Given the description of an element on the screen output the (x, y) to click on. 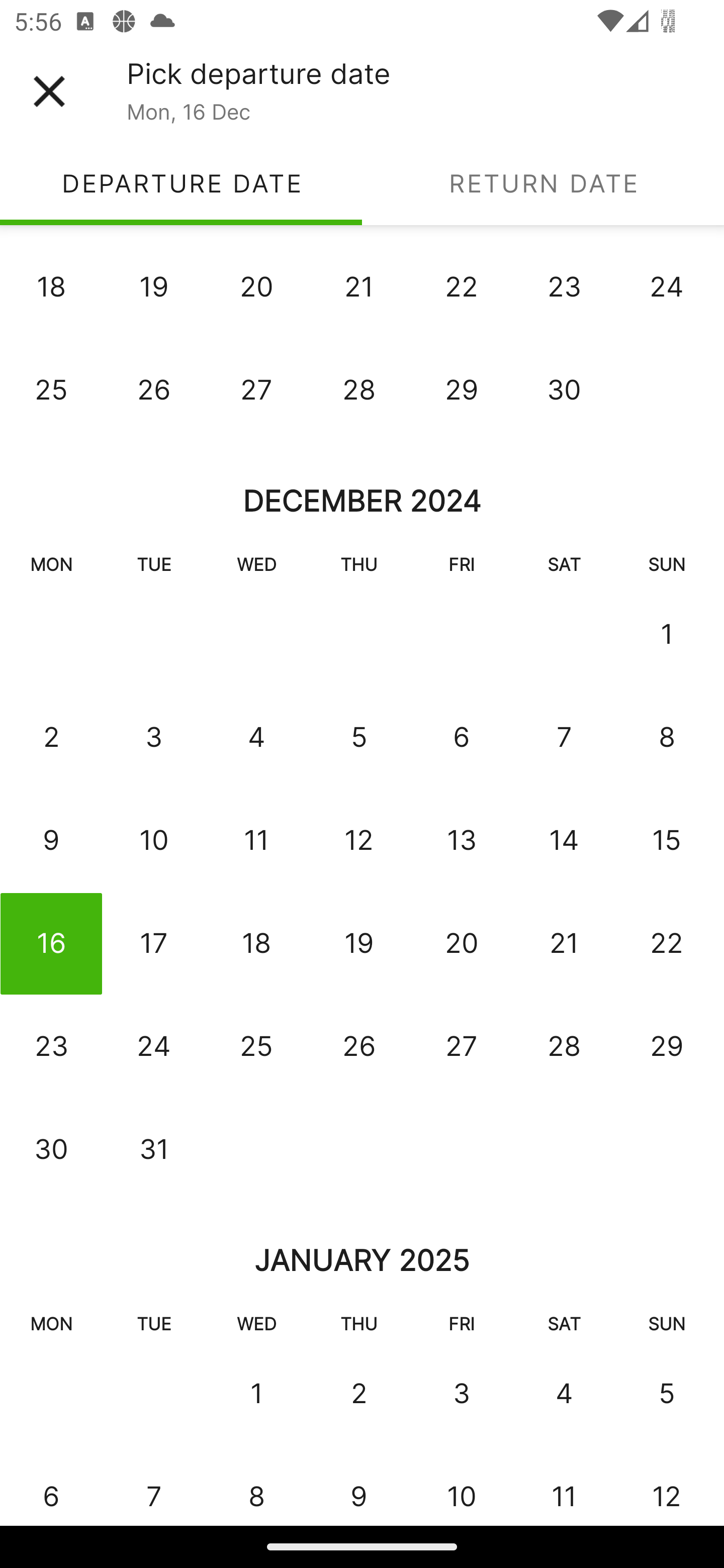
Return Date RETURN DATE (543, 183)
